Given the description of an element on the screen output the (x, y) to click on. 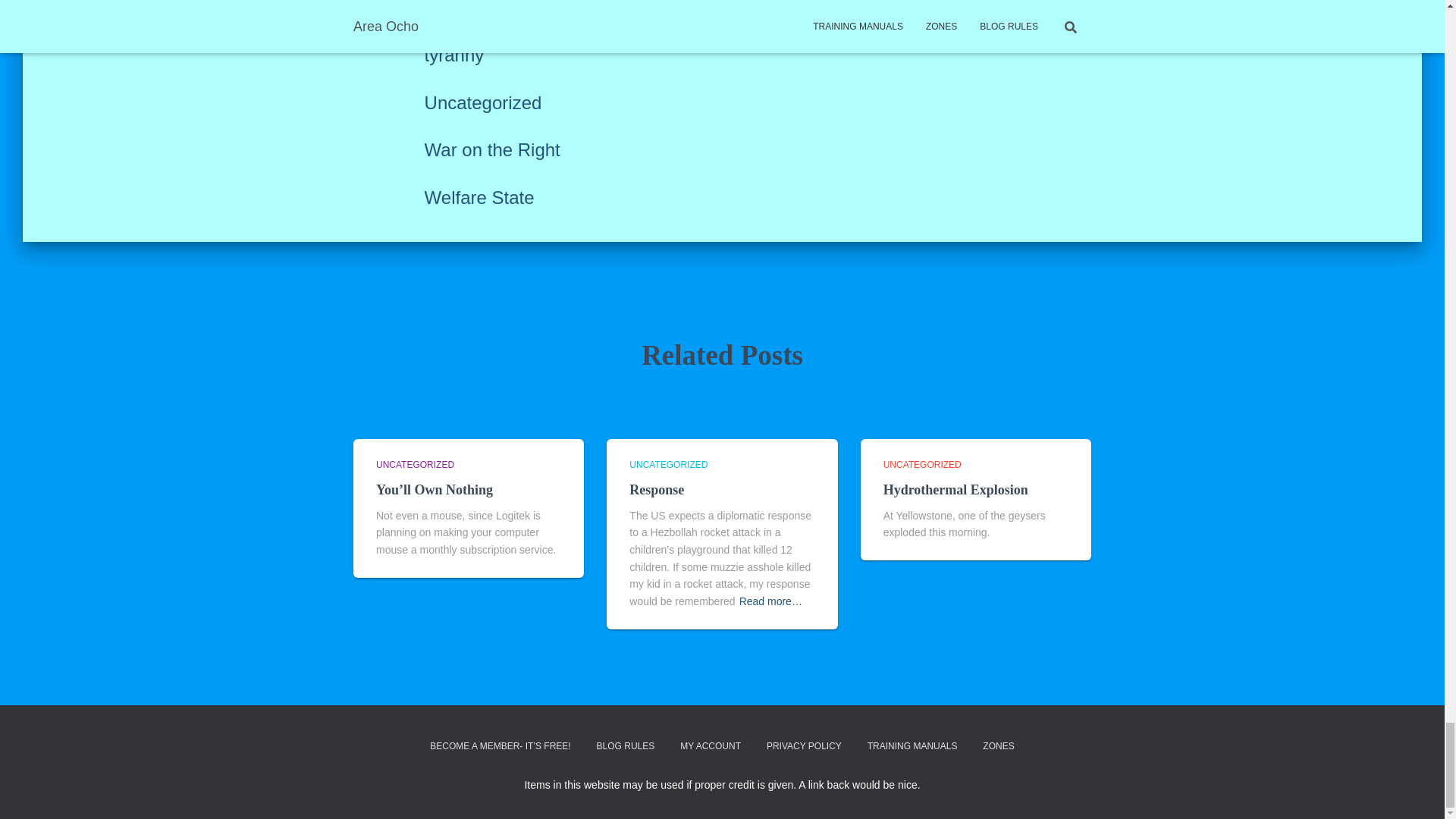
View all posts in Uncategorized (414, 464)
View all posts in Uncategorized (667, 464)
Response (656, 489)
View all posts in Uncategorized (921, 464)
Hydrothermal Explosion (955, 489)
